Given the description of an element on the screen output the (x, y) to click on. 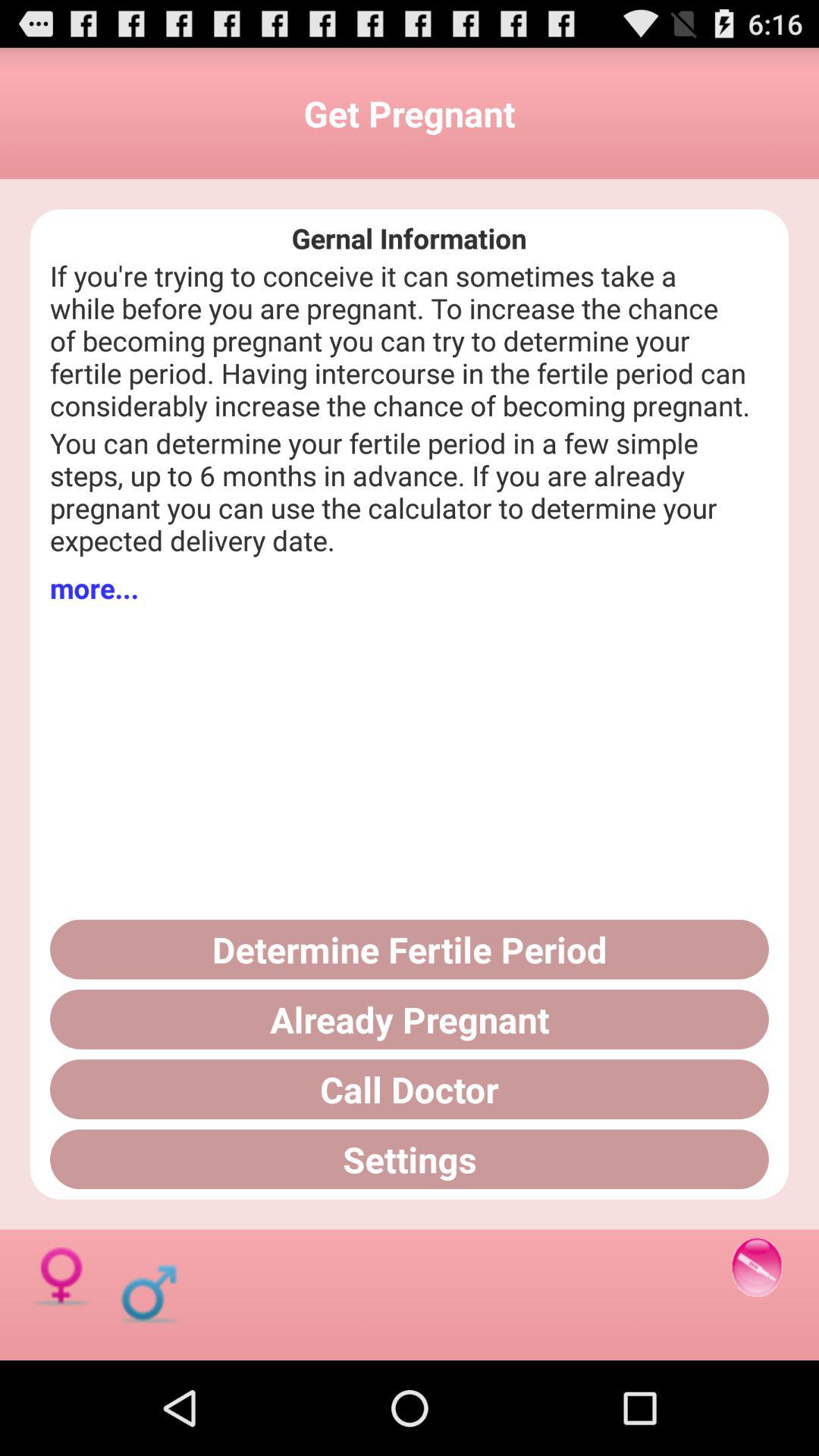
select item below you can determine icon (94, 587)
